Given the description of an element on the screen output the (x, y) to click on. 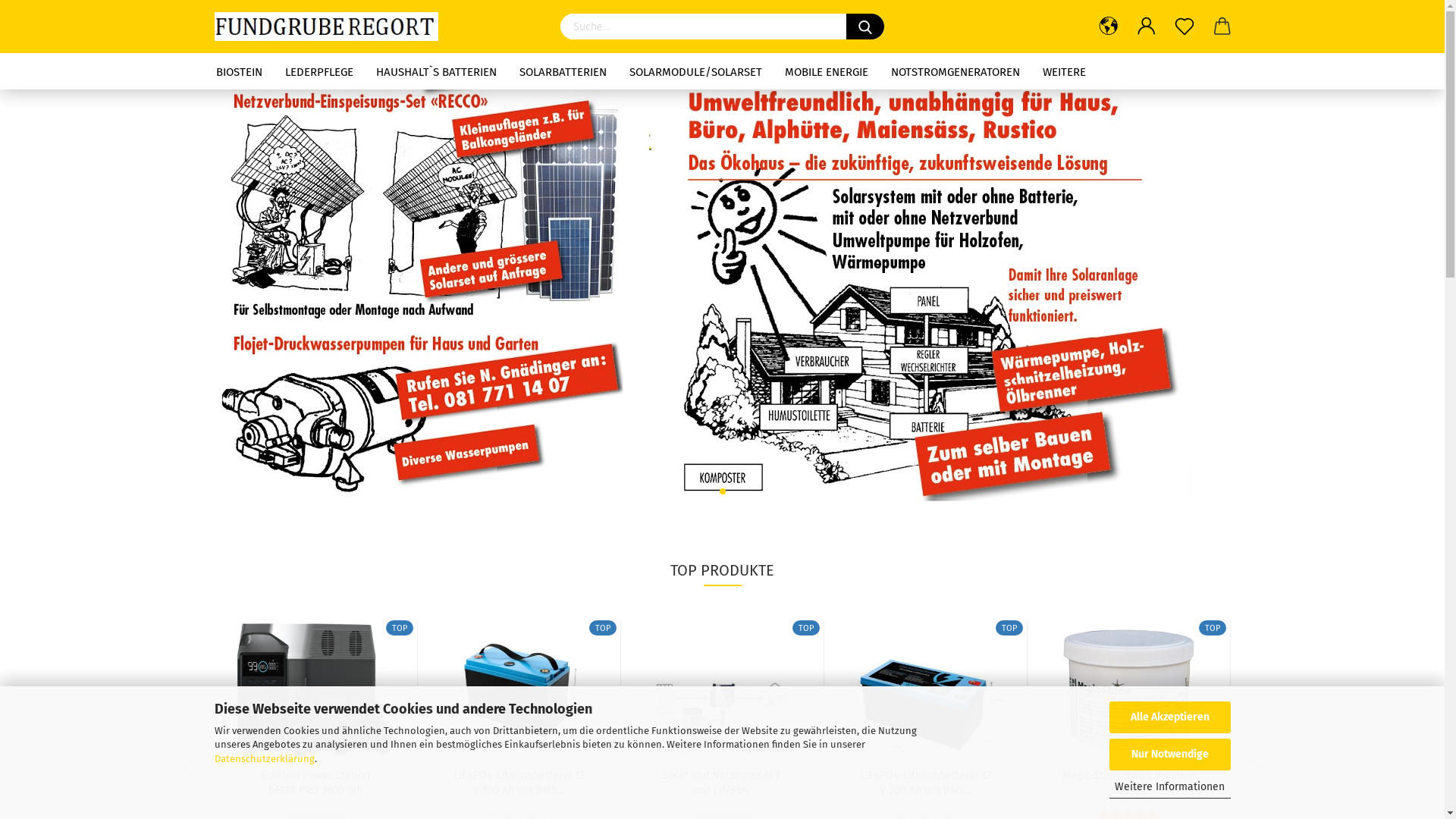
Magic-Stone Swiss Biostein 600 ml Element type: hover (1127, 688)
Weitere Informationen Element type: text (1169, 787)
HAUSHALT`S BATTERIEN Element type: text (435, 71)
Alle Akzeptieren Element type: text (1169, 716)
SOLARMODULE/SOLARSET Element type: text (694, 71)
LiFePO4-Lithiumbatterie 12 V 200 Ah mit BMS... Element type: text (925, 781)
Bisher wurden keine Rezensionen zu diesem Produkt abgegeben Element type: hover (315, 812)
EcoFlow Power Station DELTA PRO 3600 Wh Element type: text (315, 781)
MOBILE ENERGIE Element type: text (826, 71)
BIOSTEIN Element type: text (238, 71)
LiFePO4-Lithiumbatterie 12 V 100 Ah mit BMS... Element type: text (518, 781)
LEDERPFLEGE Element type: text (318, 71)
Solar und Notstromset F mit LifePo4 Element type: text (722, 781)
Bisher wurden keine Rezensionen zu diesem Produkt abgegeben Element type: hover (518, 812)
EcoFlow Power Station DELTA PRO 3600 Wh Element type: hover (314, 688)
WEITERE Element type: text (1064, 71)
LiFePO4-Lithiumbatterie 12 V 100 Ah mit BMS und LED-Anzeige Element type: hover (517, 688)
LiFePO4-Lithiumbatterie 12 V 200 Ah mit BMS und LED-Anzeige Element type: hover (924, 688)
Solar und Notstromset F mit LifePo4 Element type: hover (721, 688)
Bisher wurden keine Rezensionen zu diesem Produkt abgegeben Element type: hover (924, 812)
NOTSTROMGENERATOREN Element type: text (955, 71)
Bisher wurden keine Rezensionen zu diesem Produkt abgegeben Element type: hover (721, 812)
SOLARBATTERIEN Element type: text (563, 71)
In 2 Rezensionen durchschnittlich mit 5 bewertet Element type: hover (1128, 812)
Magic-Stone Swiss Biostein 600 ml Element type: text (1128, 781)
Nur Notwendige Element type: text (1169, 754)
